Given the description of an element on the screen output the (x, y) to click on. 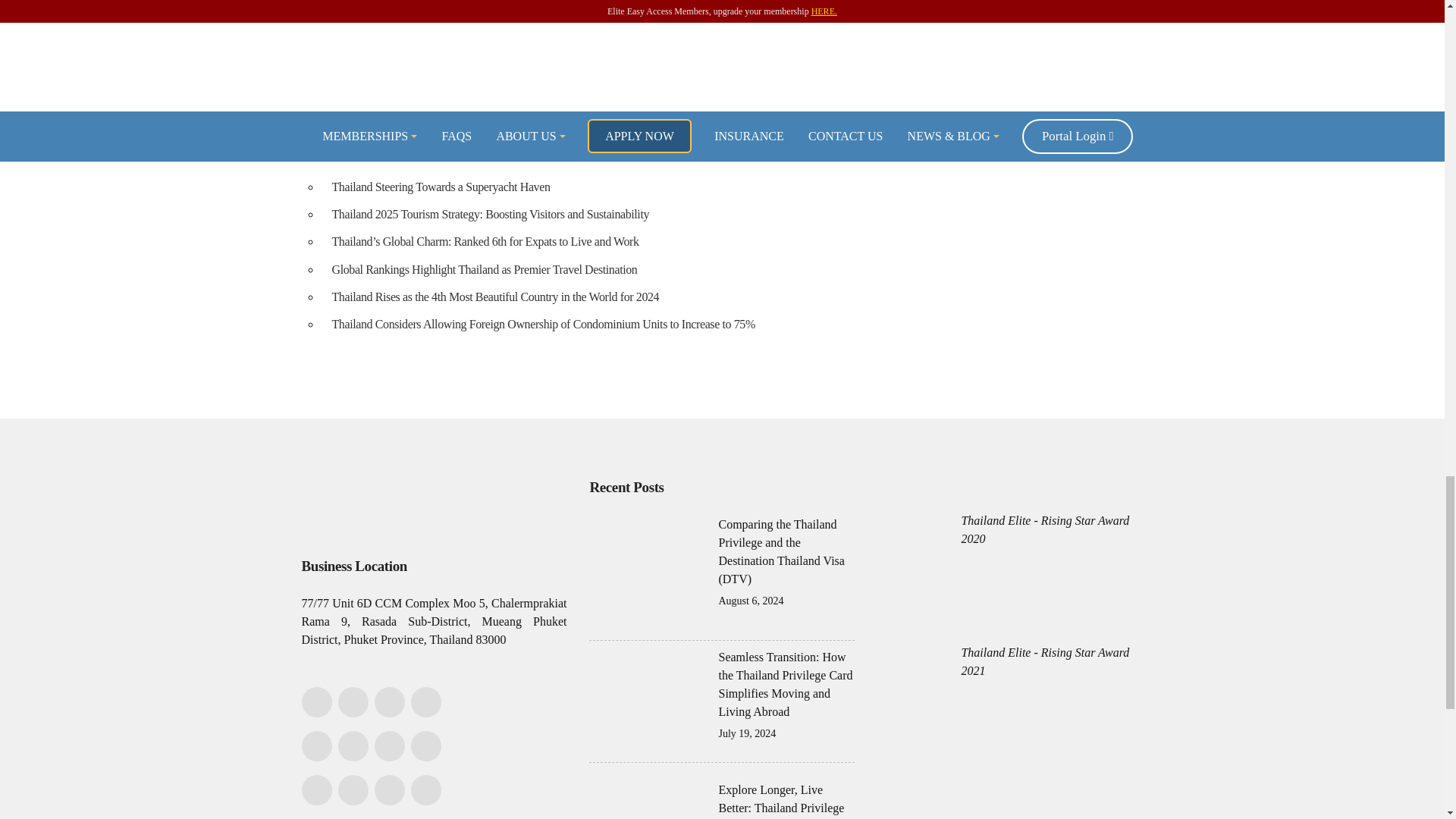
Thailand Steering Towards a Superyacht Haven (543, 186)
News (839, 61)
Thailand Steering Towards a Superyacht Haven (543, 186)
WeChat ID: CANEFAITRIEN (389, 702)
BangkokPost (356, 2)
PattayaMail (353, 17)
